Given the description of an element on the screen output the (x, y) to click on. 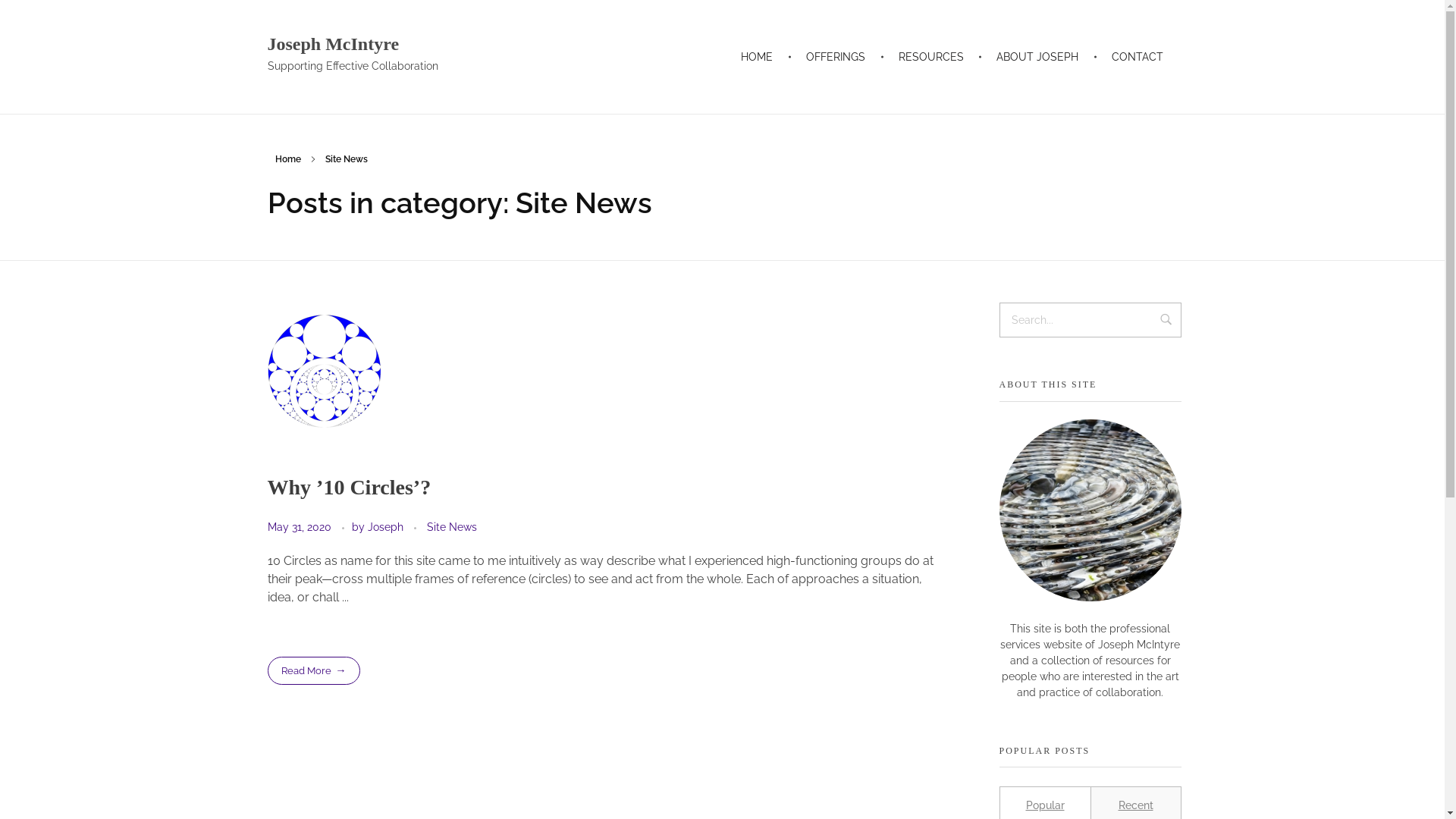
Home Element type: text (287, 158)
HOME Element type: text (759, 56)
Joseph Element type: text (386, 526)
Joseph McIntyre Element type: text (332, 43)
OFFERINGS Element type: text (837, 56)
ABOUT JOSEPH Element type: text (1040, 56)
Site News Element type: text (451, 527)
Recent Element type: text (1134, 805)
Read More Element type: text (312, 670)
Search Element type: text (1166, 325)
Popular Element type: text (1044, 805)
CONTACT Element type: text (1137, 56)
RESOURCES Element type: text (933, 56)
May 31, 2020 Element type: text (299, 526)
